Given the description of an element on the screen output the (x, y) to click on. 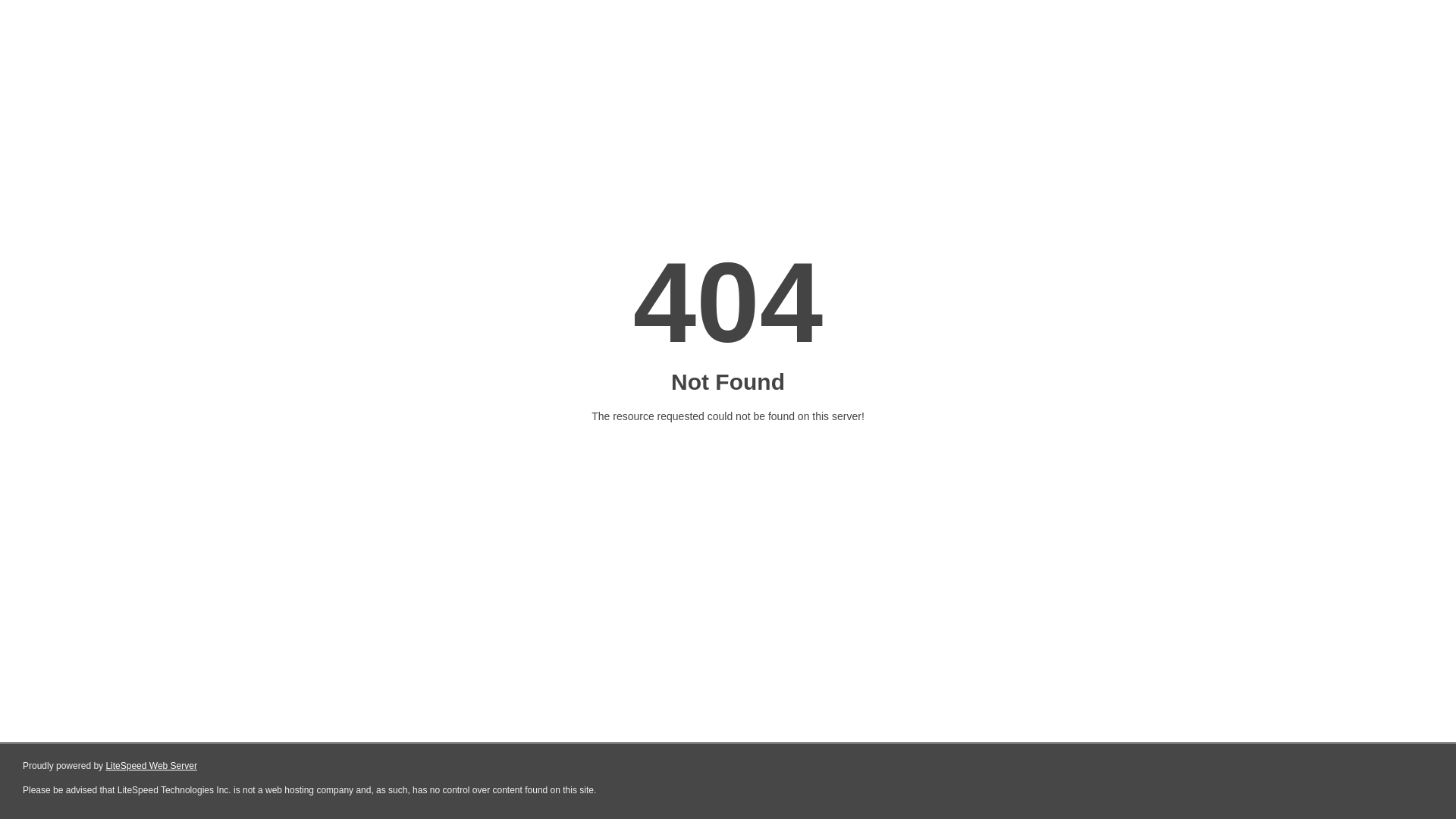
LiteSpeed Web Server Element type: text (151, 765)
